Given the description of an element on the screen output the (x, y) to click on. 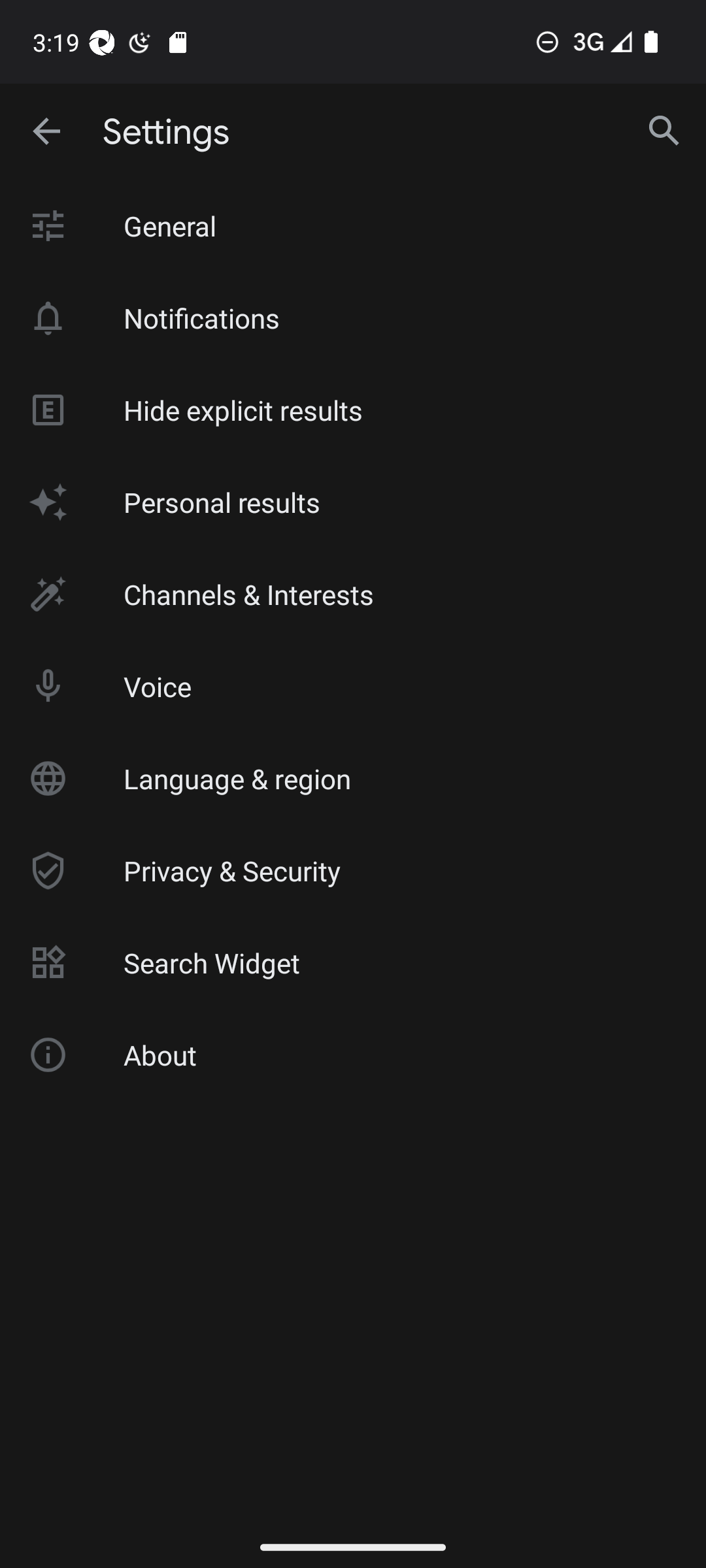
Navigate up (48, 131)
Search (664, 131)
General (353, 225)
Notifications (353, 317)
Hide explicit results (353, 409)
Personal results (353, 502)
Channels & Interests (353, 593)
Voice (353, 685)
Language & region (353, 778)
Privacy & Security (353, 870)
Search Widget (353, 962)
About (353, 1054)
